Given the description of an element on the screen output the (x, y) to click on. 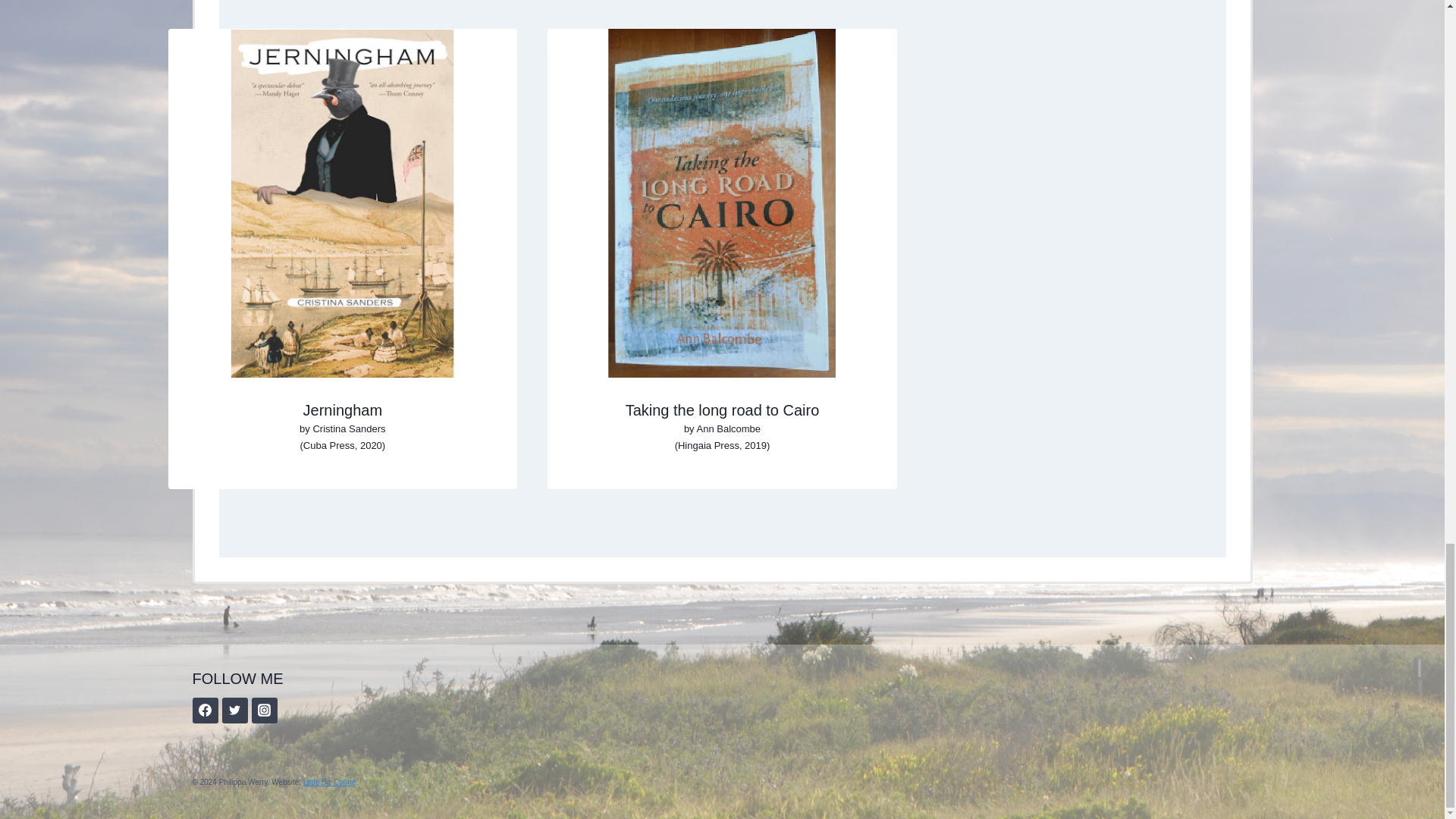
Little Biz Online (328, 782)
